Given the description of an element on the screen output the (x, y) to click on. 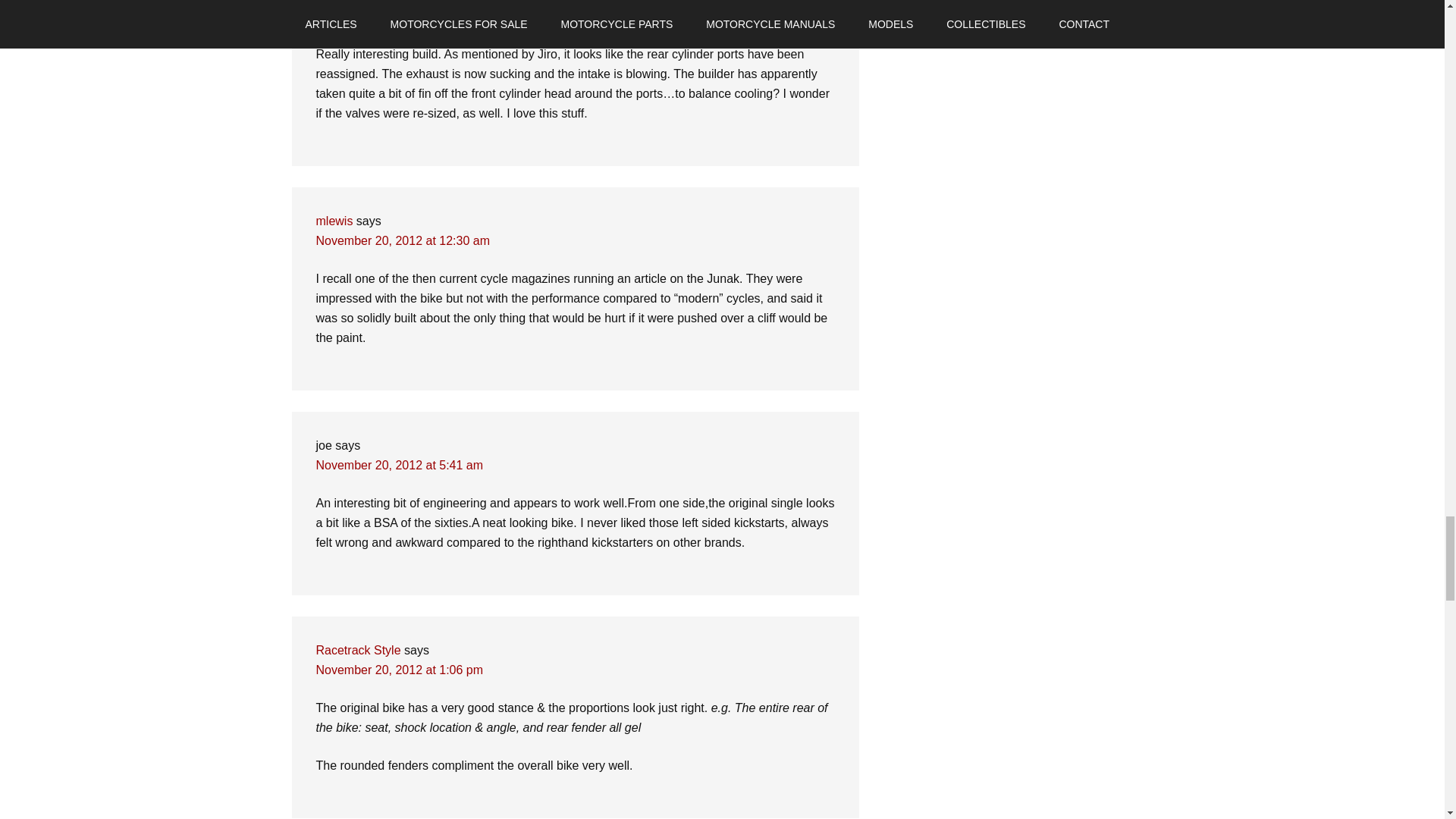
November 20, 2012 at 12:30 am (402, 240)
November 20, 2012 at 1:06 pm (399, 669)
mlewis (333, 220)
November 20, 2012 at 5:41 am (399, 464)
November 19, 2012 at 9:33 pm (399, 15)
Racetrack Style (357, 649)
